Given the description of an element on the screen output the (x, y) to click on. 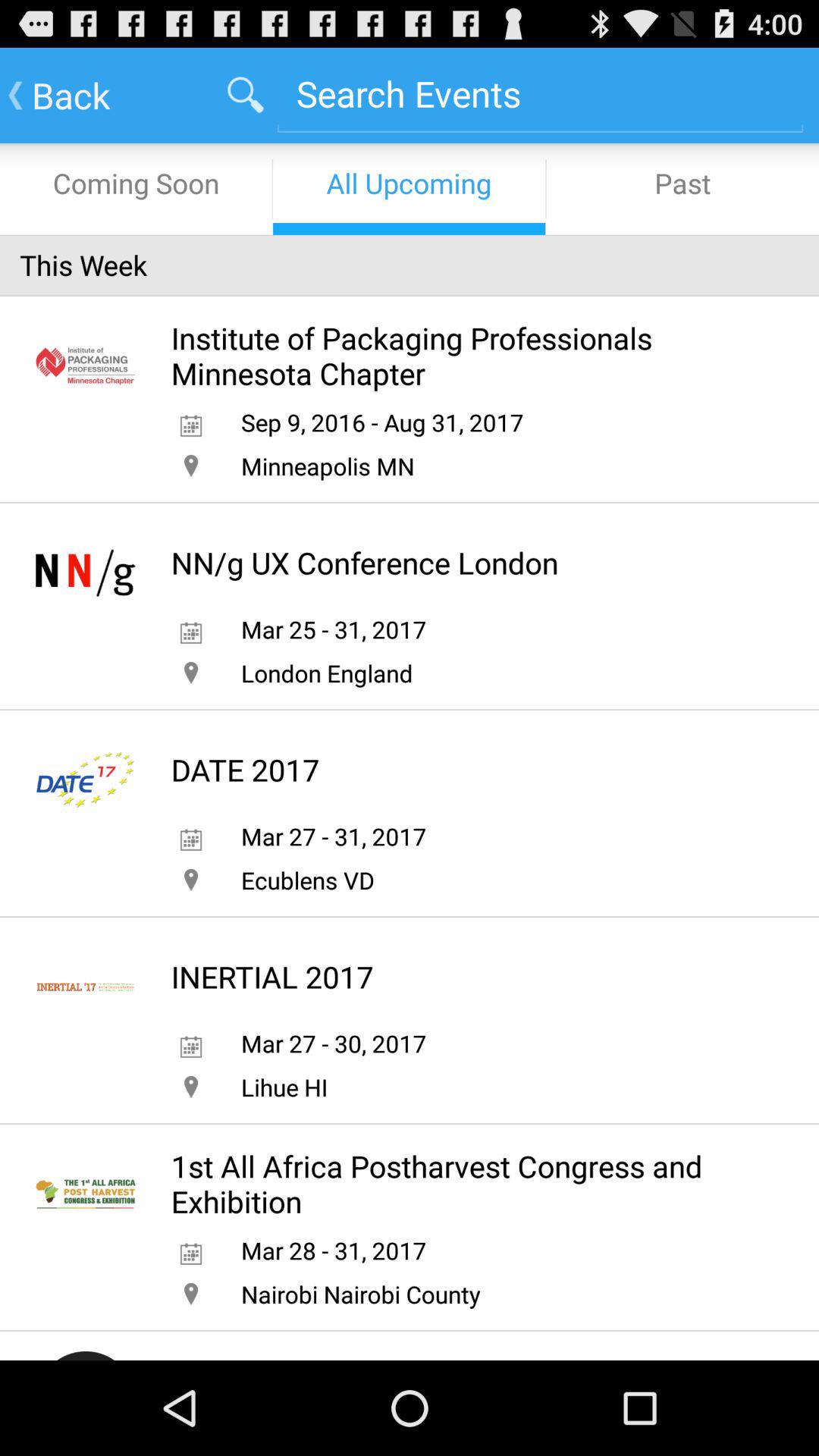
search for events (540, 93)
